Given the description of an element on the screen output the (x, y) to click on. 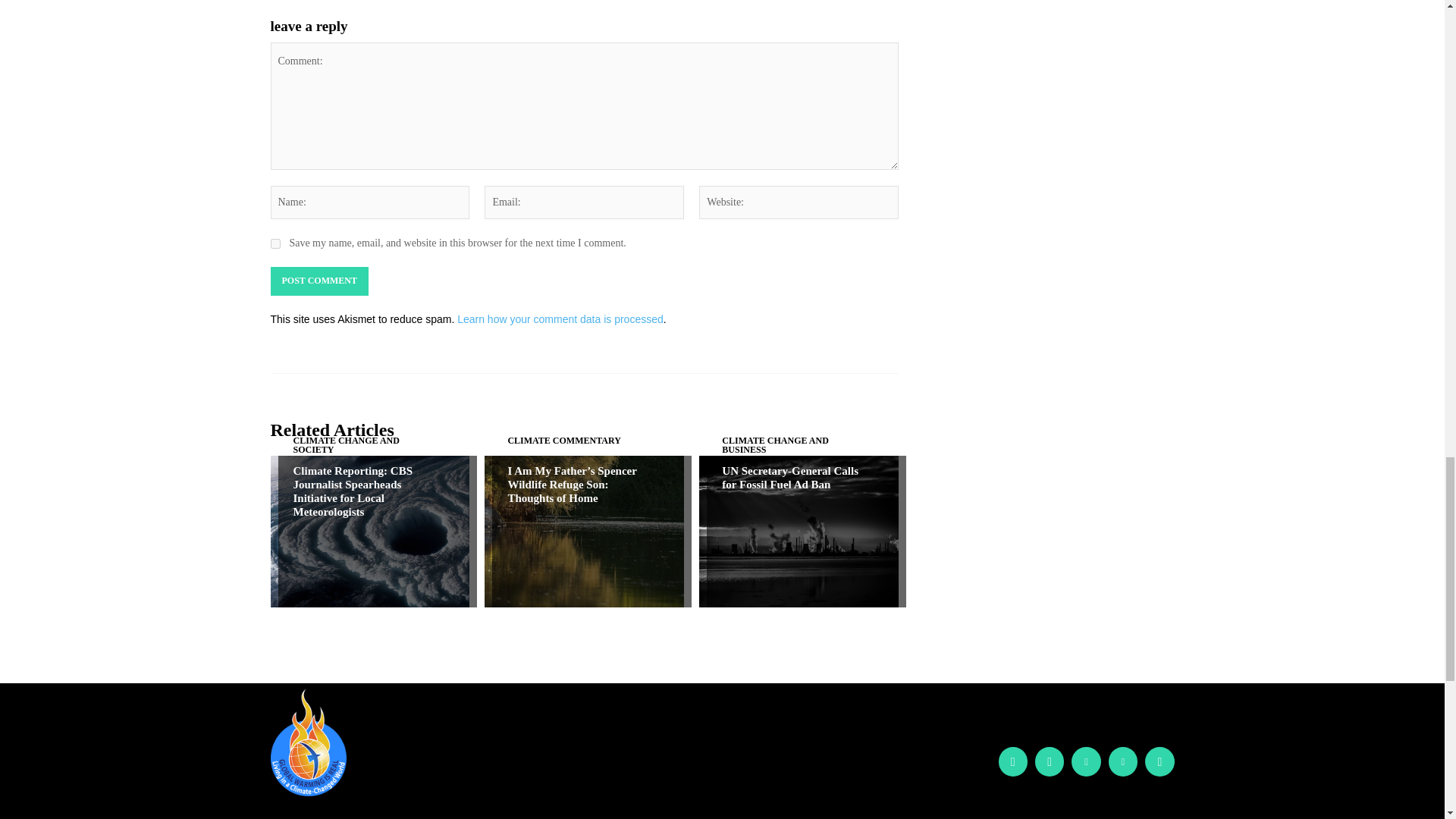
yes (274, 243)
Post Comment (318, 280)
